Given the description of an element on the screen output the (x, y) to click on. 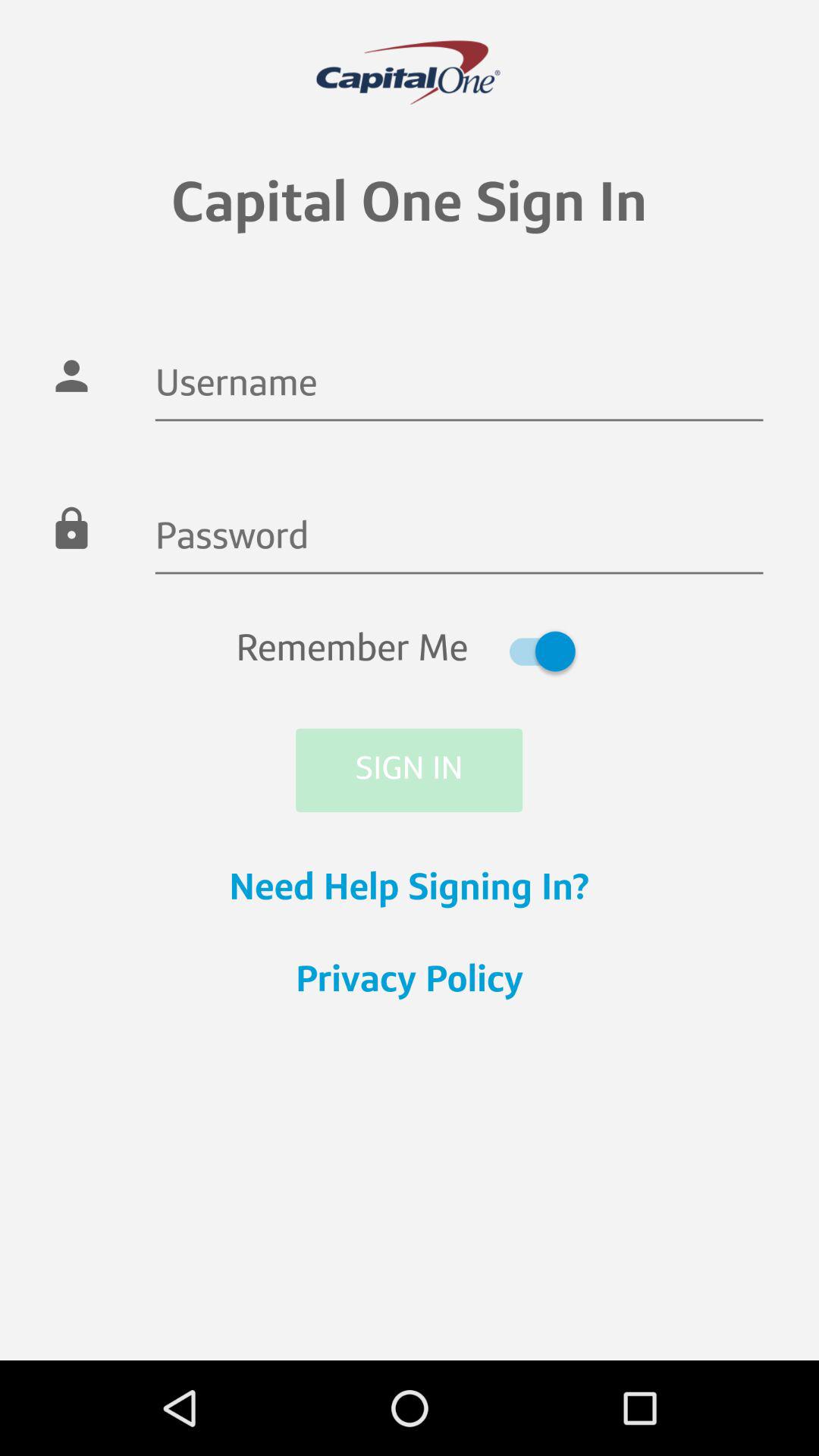
turn on remember me (409, 650)
